Given the description of an element on the screen output the (x, y) to click on. 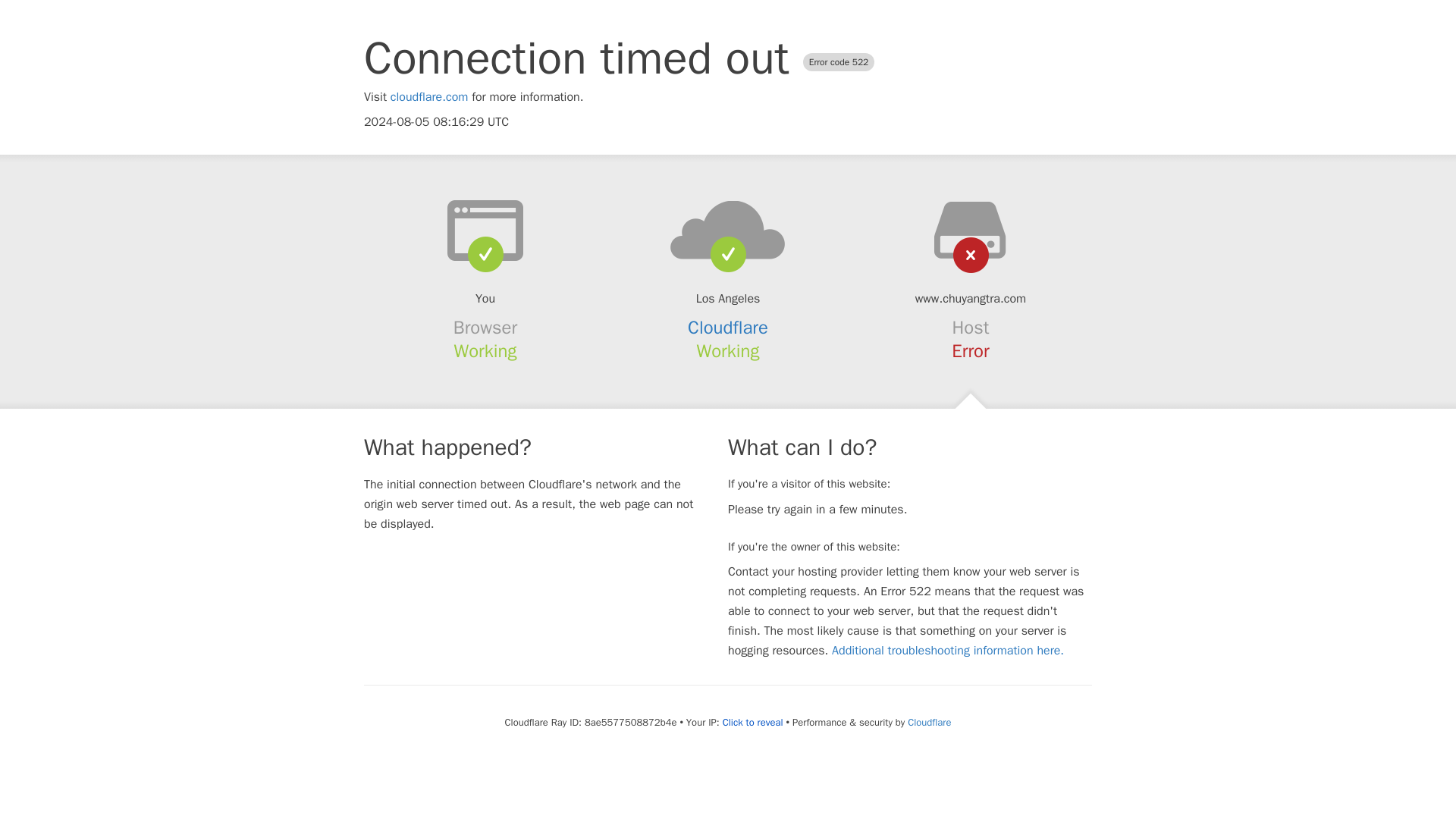
Click to reveal (752, 722)
Cloudflare (727, 327)
cloudflare.com (429, 96)
Additional troubleshooting information here. (947, 650)
Cloudflare (928, 721)
